Given the description of an element on the screen output the (x, y) to click on. 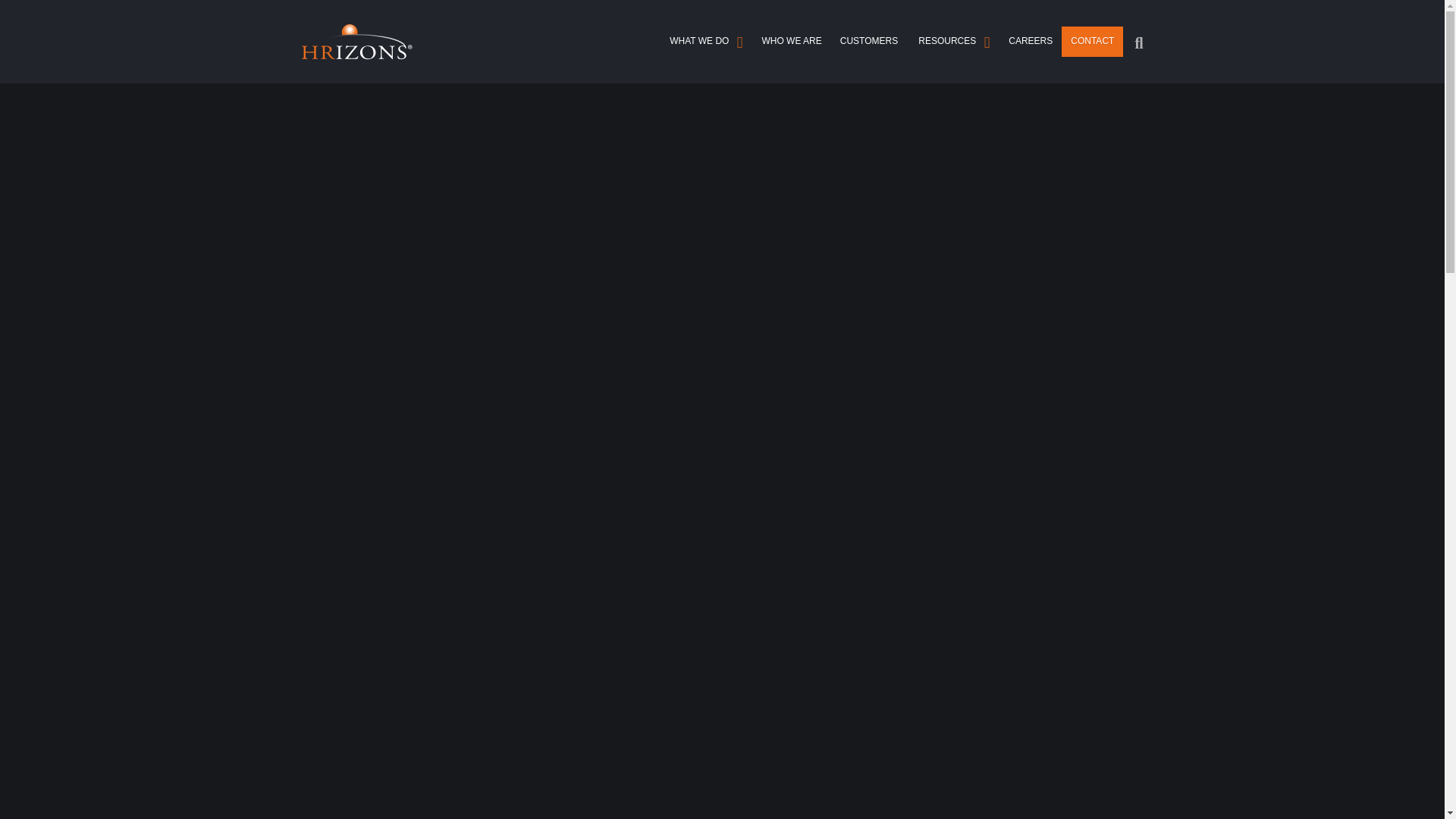
WHAT WE DO (705, 41)
WHO WE ARE (790, 41)
What We Do (705, 41)
CONTACT (1091, 41)
RESOURCES (952, 41)
Search (1132, 41)
CUSTOMERS (869, 41)
CAREERS (1029, 41)
